Given the description of an element on the screen output the (x, y) to click on. 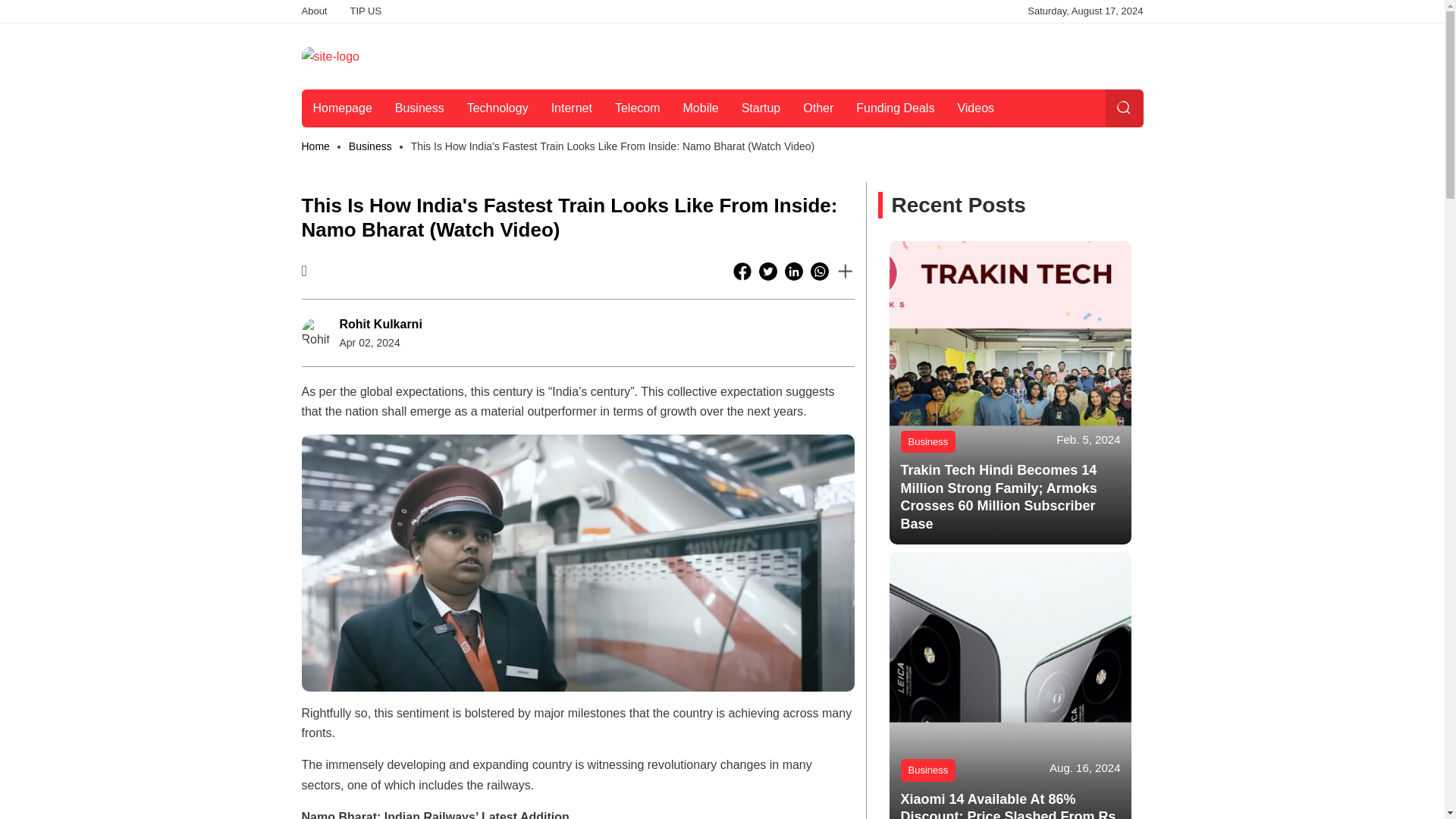
Funding Deals (895, 108)
Object (370, 146)
Object (928, 441)
Telecom (637, 108)
Business (419, 108)
Internet (571, 108)
Business (370, 146)
Rohit Kulkarni (380, 323)
Mobile (699, 108)
Videos (975, 108)
